Given the description of an element on the screen output the (x, y) to click on. 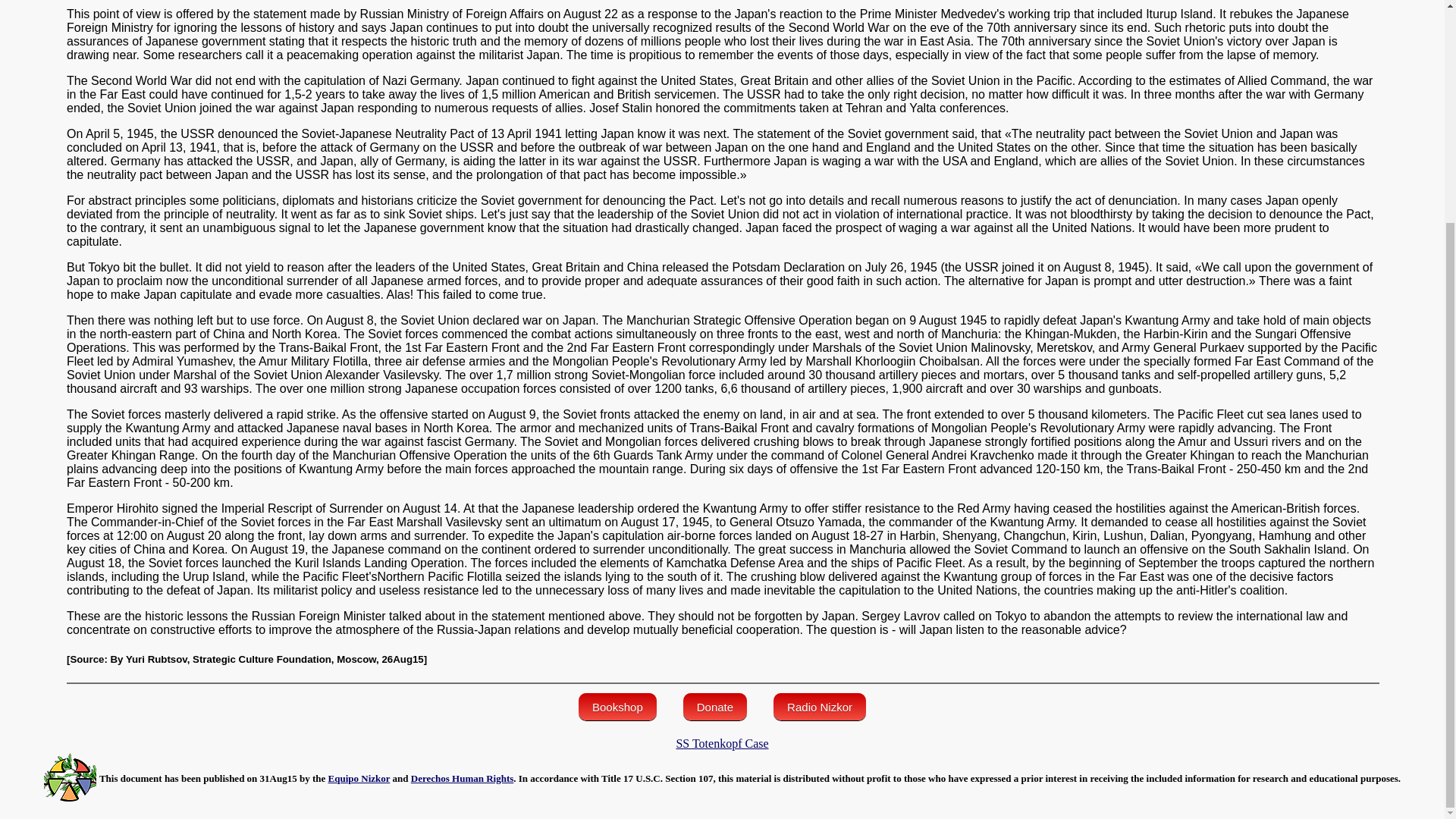
Derechos Human Rights (461, 778)
Equipo Nizkor (359, 778)
SS Totenkopf Case (721, 743)
Bookshop (617, 706)
Donate (714, 706)
Radio Nizkor (819, 706)
